Given the description of an element on the screen output the (x, y) to click on. 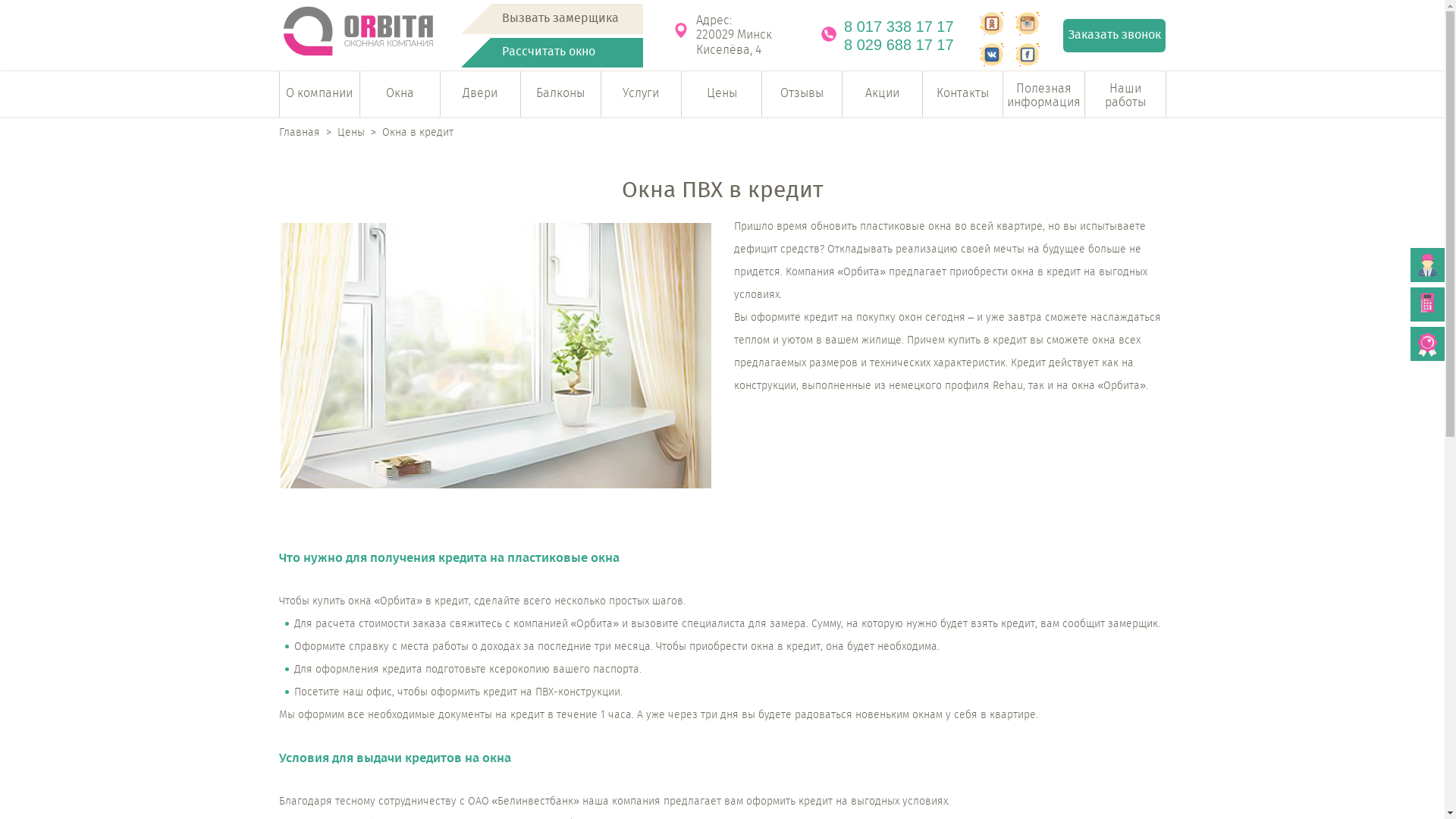
8 029 688 17 17 Element type: text (906, 44)
8 017 338 17 17 Element type: text (906, 26)
